Given the description of an element on the screen output the (x, y) to click on. 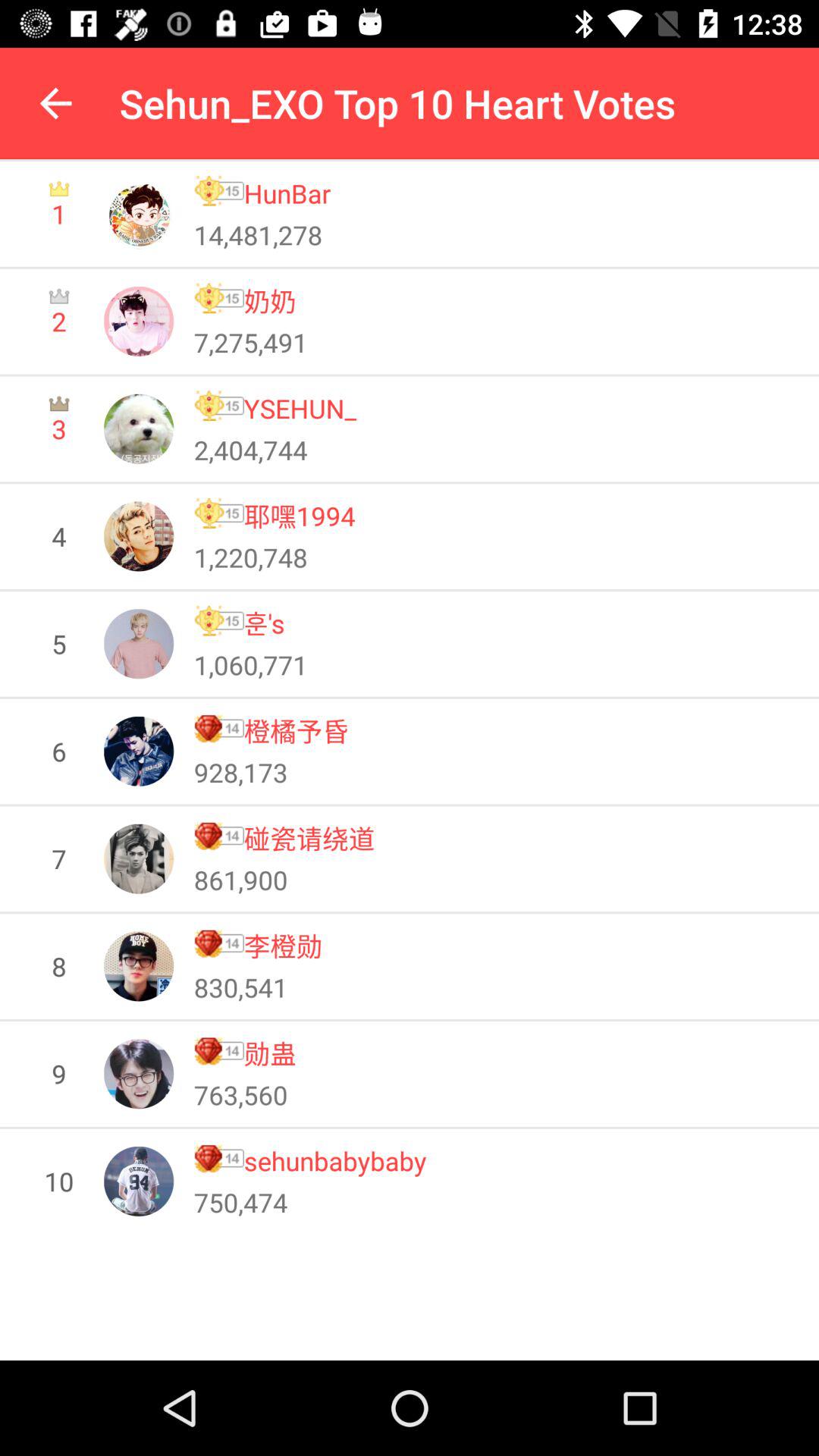
select the ysehun_ (299, 407)
